Given the description of an element on the screen output the (x, y) to click on. 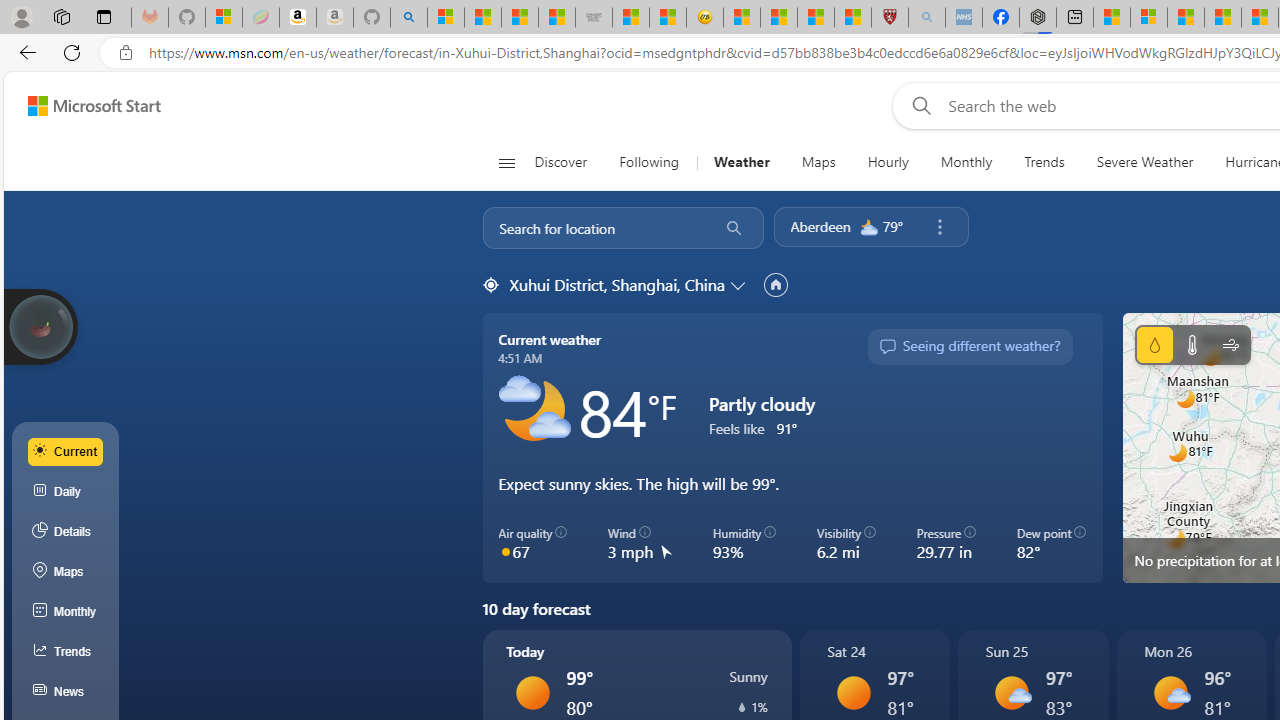
Xuhui District, Shanghai, China (616, 284)
Change location (739, 285)
Stocks - MSN (556, 17)
Join us in planting real trees to help our planet! (40, 325)
Trends (65, 651)
Hourly (888, 162)
Class: aqiColorCycle-DS-EntryPoint1-1 (505, 551)
Weather (741, 162)
12 Popular Science Lies that Must be Corrected (852, 17)
Aberdeen (820, 226)
Monthly (65, 611)
